Given the description of an element on the screen output the (x, y) to click on. 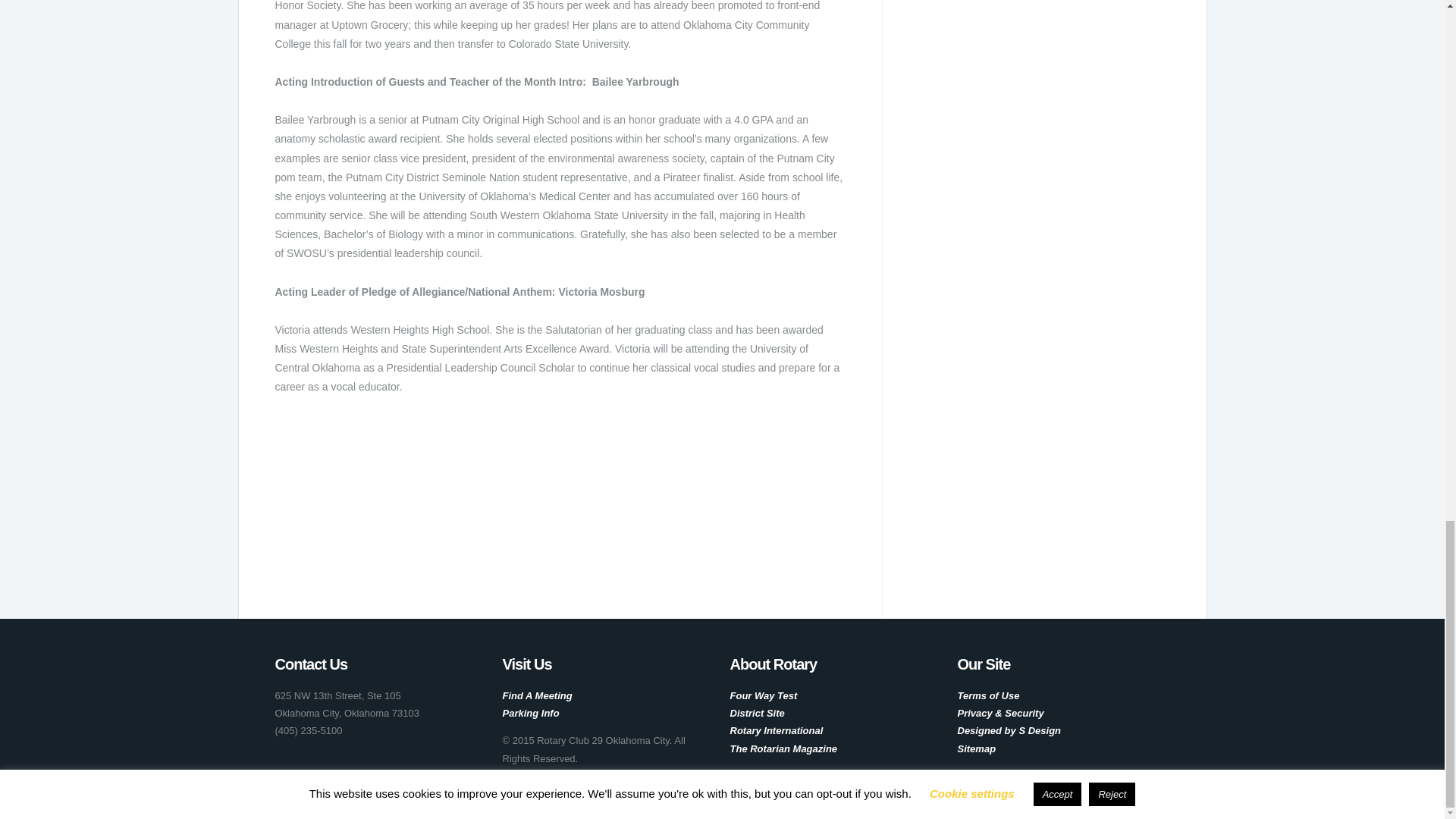
Rotary International (775, 730)
Terms of Use (987, 695)
Parking Info (530, 713)
Designed by S Design (1008, 730)
The Rotarian Magazine (783, 748)
Find A Meeting (537, 695)
Four Way Test (762, 695)
District Site (756, 713)
Sitemap (975, 748)
